Given the description of an element on the screen output the (x, y) to click on. 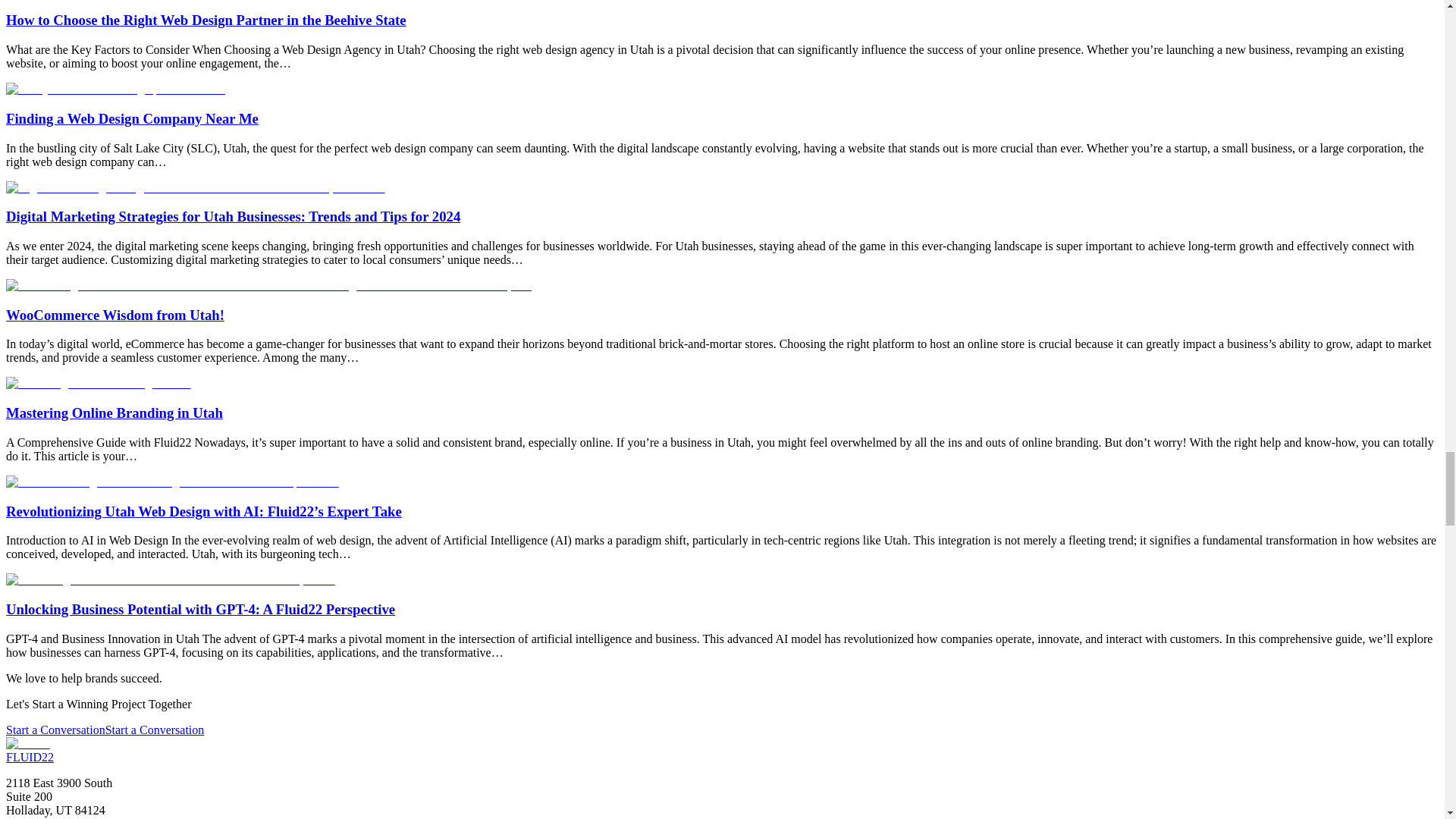
Digital-Marketing-Strategies-for-Utah-Businesses (195, 187)
Mastering-Online-Branding-in-Utah (97, 383)
Revolutionizing-Utah-Web-Design-with-AI-Fluid22-Expert-Take (172, 481)
Maximizing-Your-Online-Stores-Potential (268, 285)
FLUID22 (29, 757)
Find-your-ideal-web-design-partner-in-SLC (115, 89)
